Given the description of an element on the screen output the (x, y) to click on. 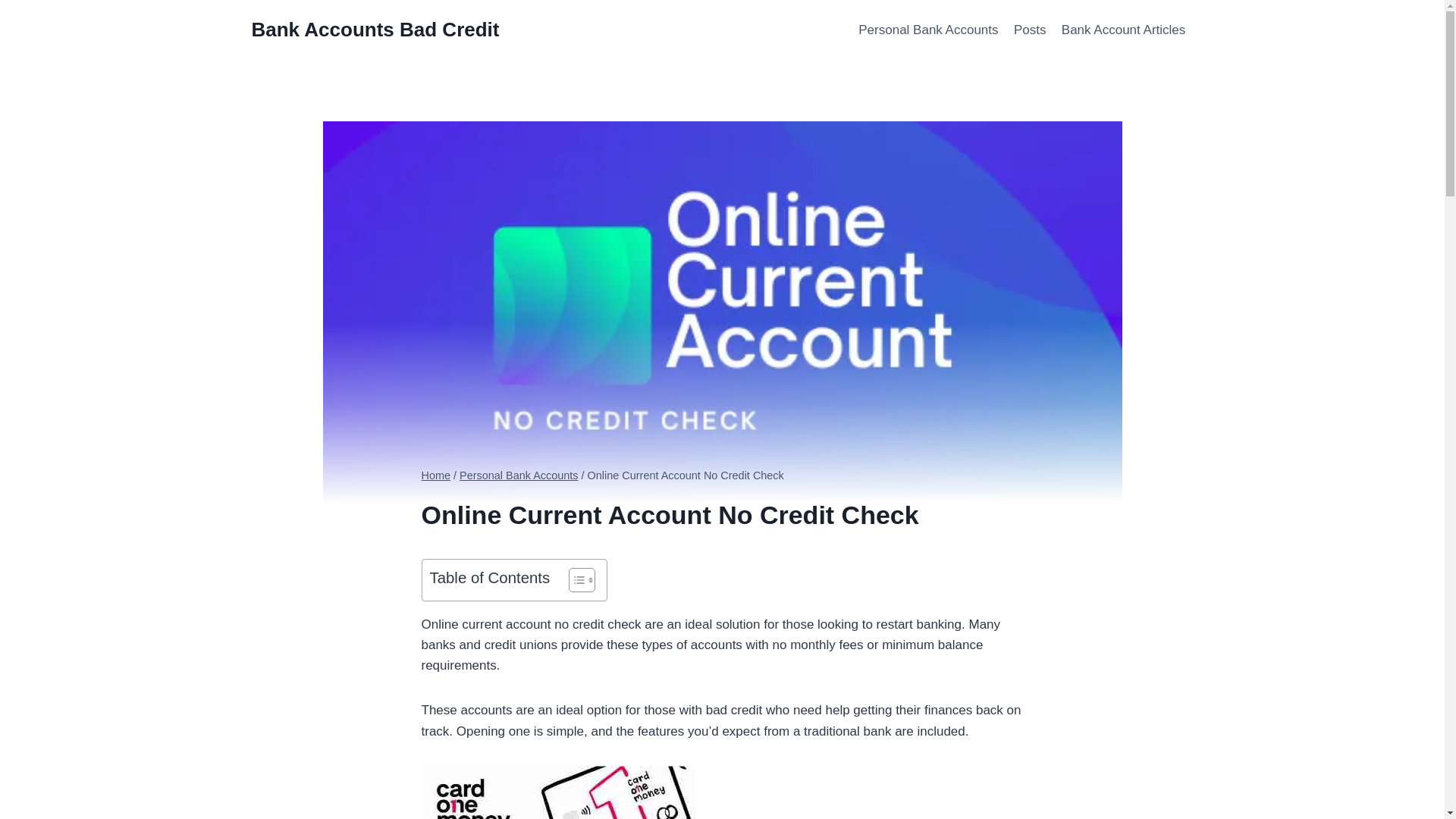
Personal Bank Accounts (928, 30)
Home (436, 475)
Bank Accounts Bad Credit (375, 29)
Personal Bank Accounts (519, 475)
Bank Account Articles (1123, 30)
Posts (1030, 30)
